Given the description of an element on the screen output the (x, y) to click on. 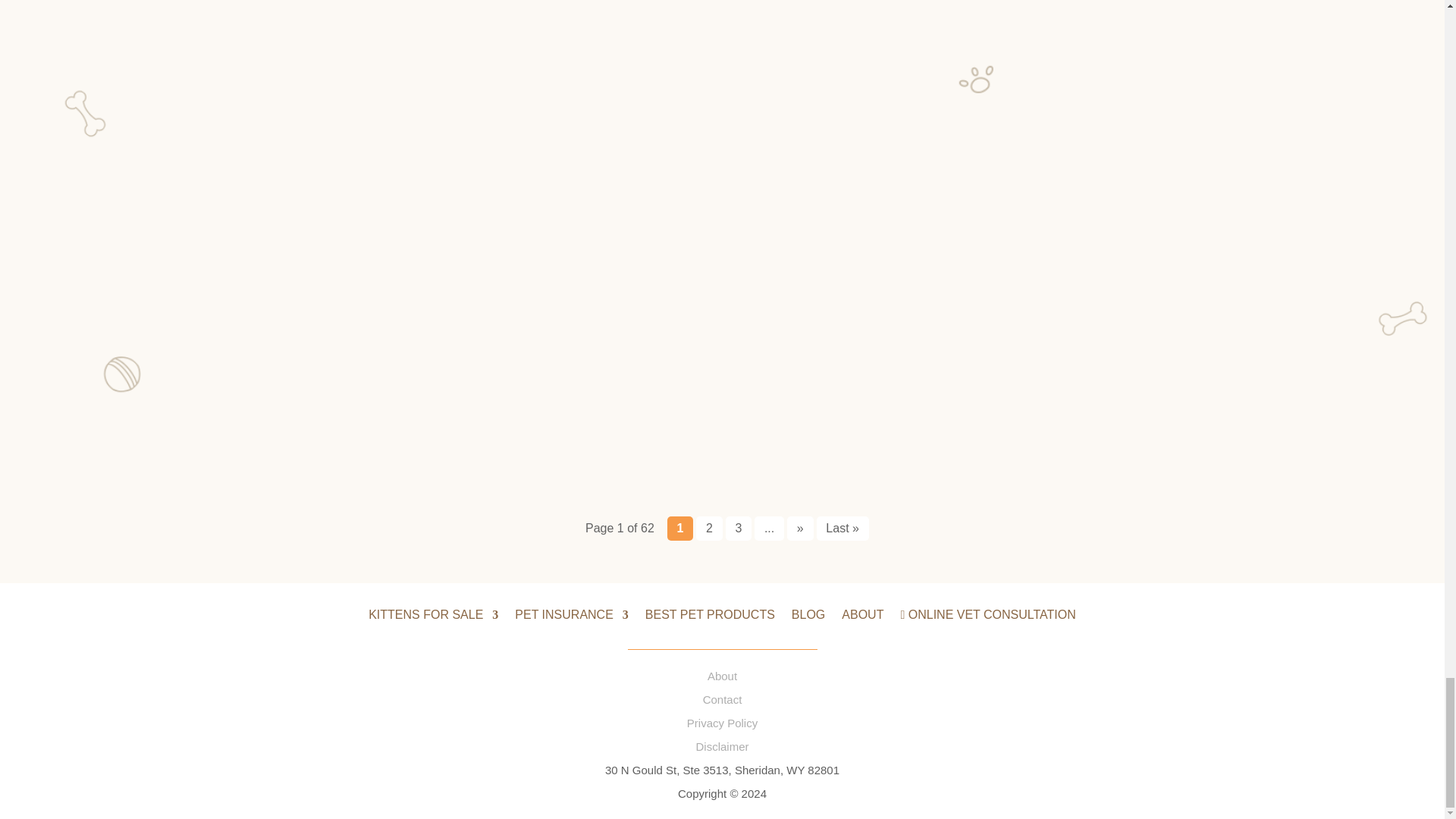
About (721, 675)
Privacy Policy (722, 722)
Privacy Policy (721, 746)
Page 3 (738, 527)
Page 2 (708, 527)
Contact (722, 698)
